Given the description of an element on the screen output the (x, y) to click on. 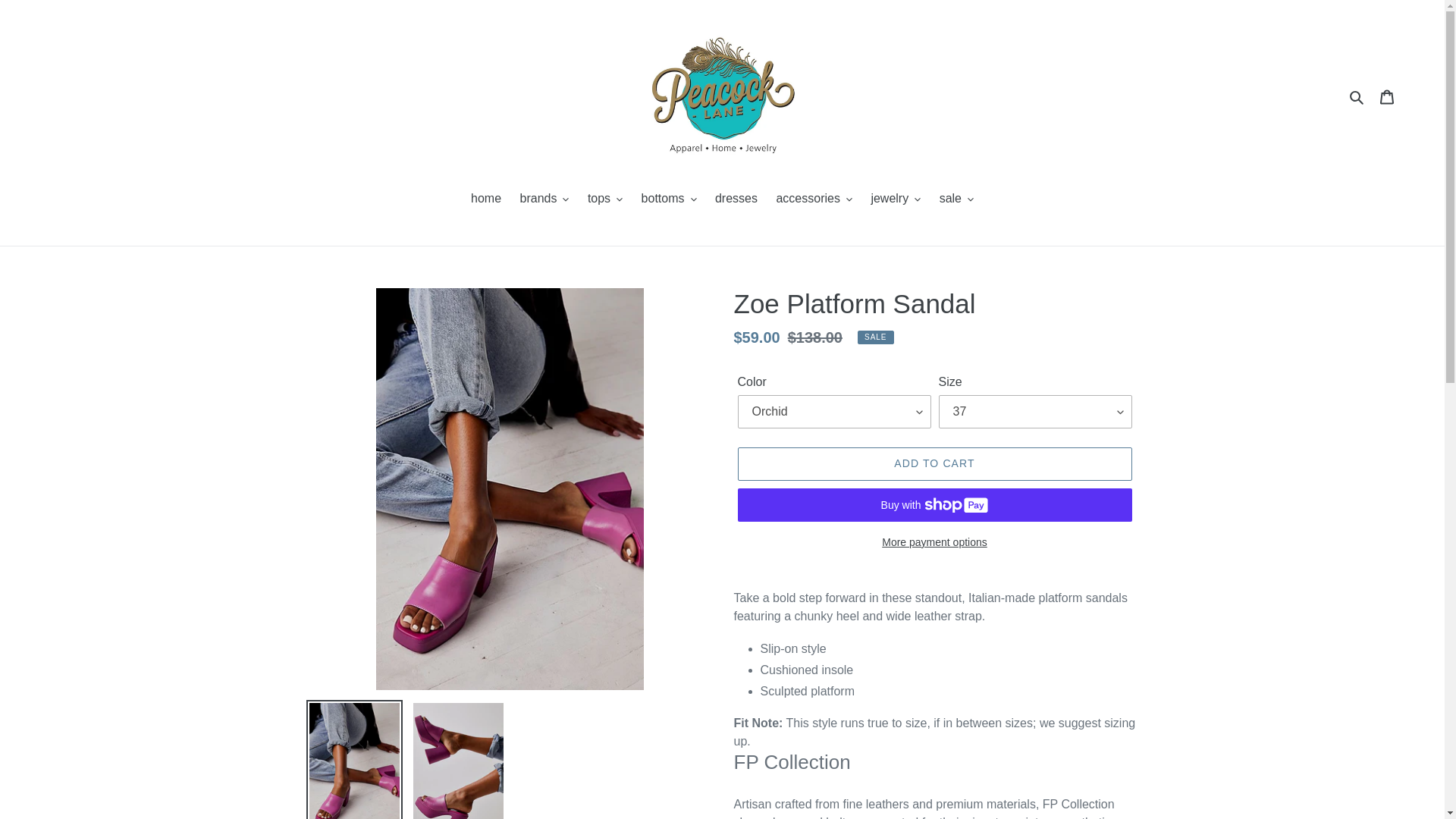
Search (1357, 96)
Cart (1387, 96)
